Given the description of an element on the screen output the (x, y) to click on. 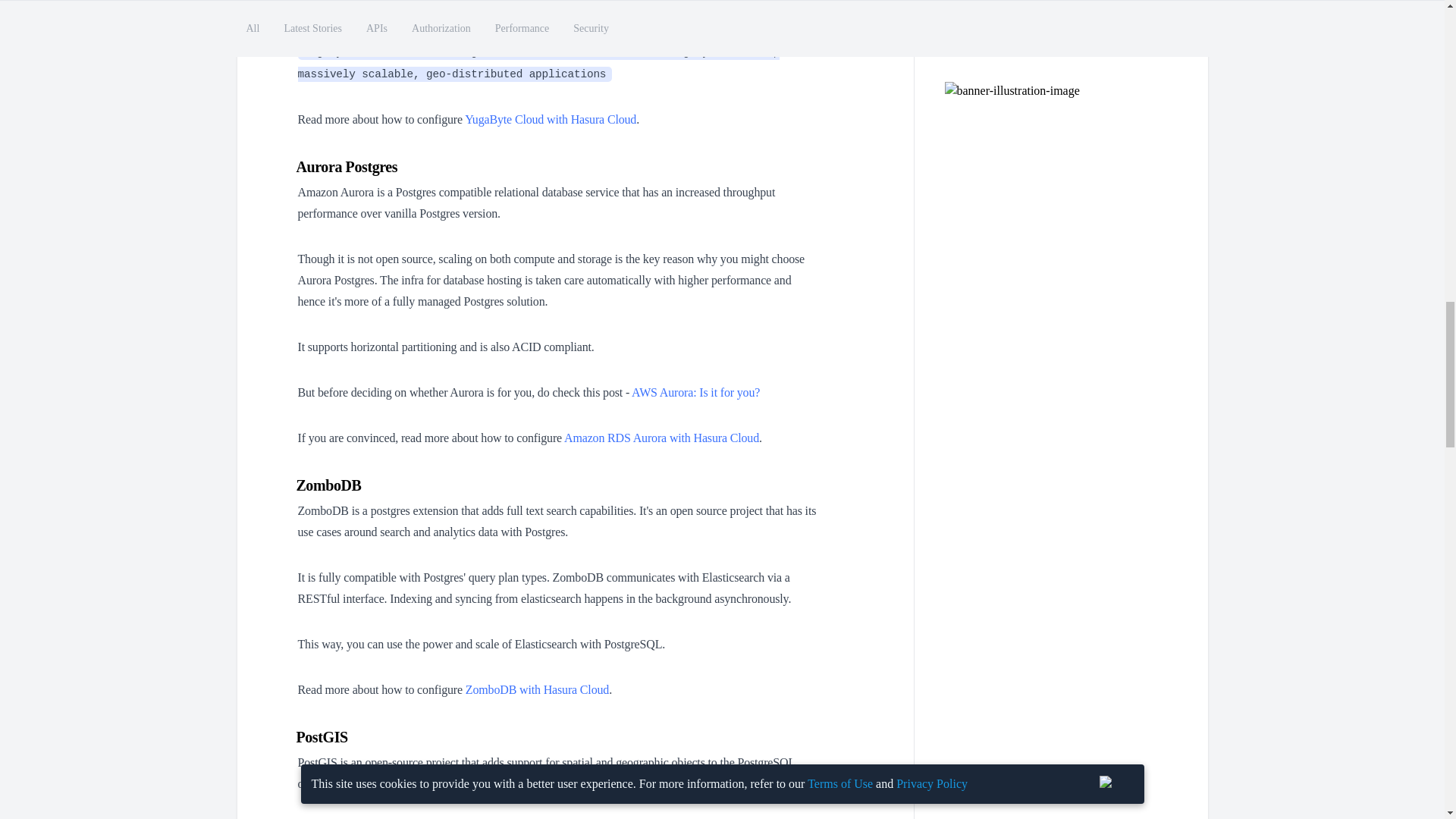
AWS Aurora: Is it for you? (695, 391)
Amazon RDS Aurora with Hasura Cloud (661, 437)
YugaByte Cloud with Hasura Cloud (550, 119)
ZomboDB with Hasura Cloud (536, 689)
YugaByte's blog (377, 6)
